Given the description of an element on the screen output the (x, y) to click on. 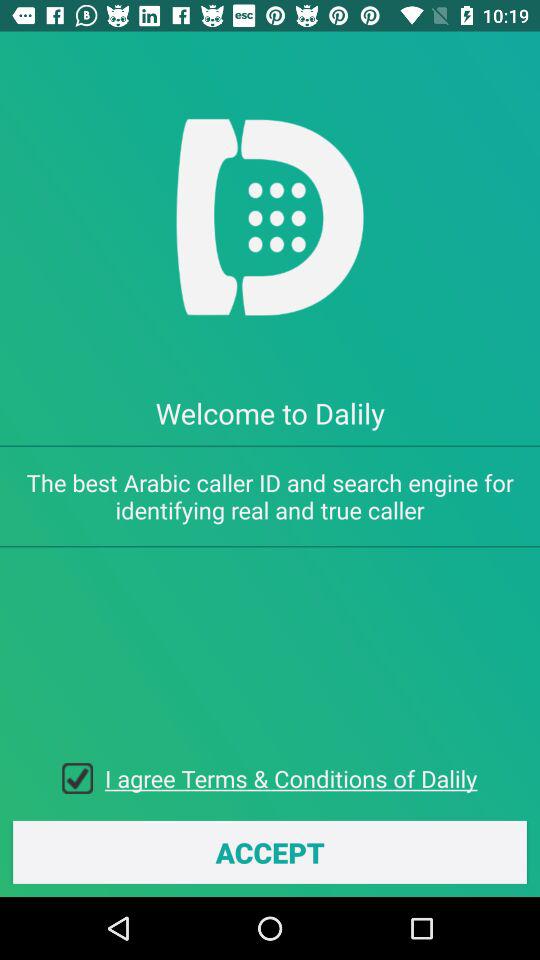
launch accept item (269, 851)
